Given the description of an element on the screen output the (x, y) to click on. 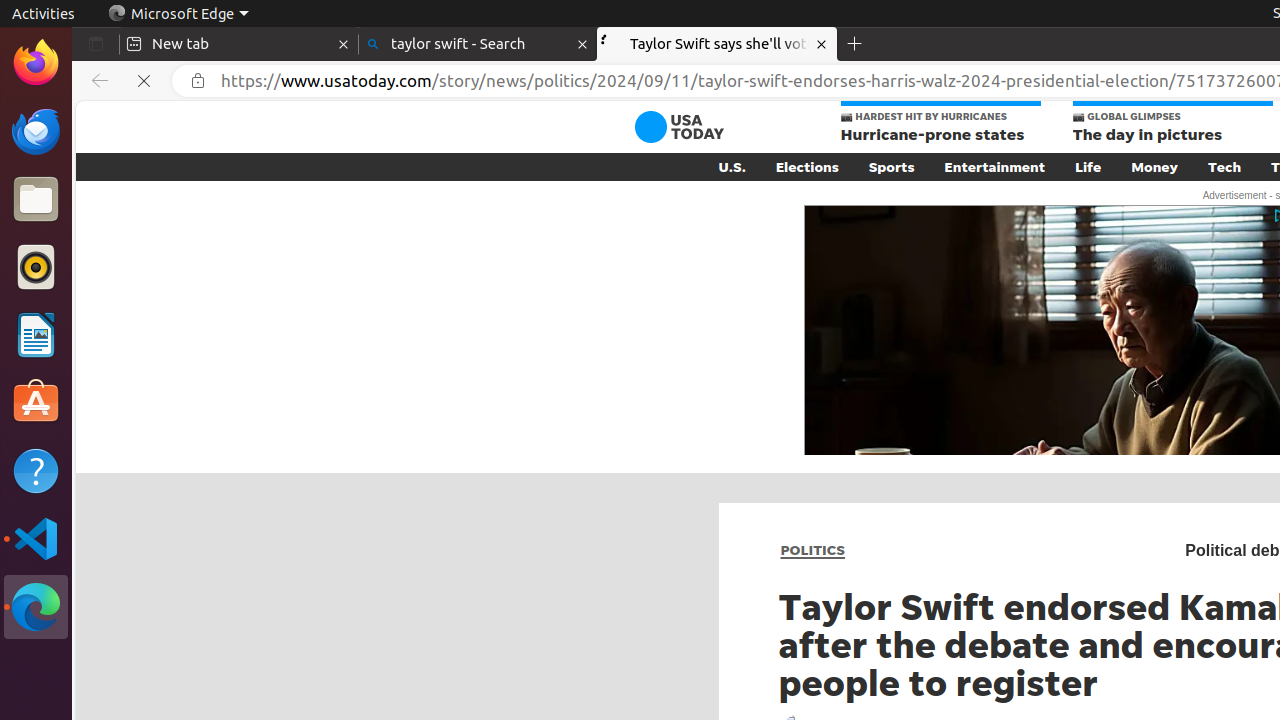
Skip to main content Element type: push-button (605, 127)
Sports Element type: link (891, 167)
Firefox Web Browser Element type: push-button (36, 63)
Thunderbird Mail Element type: push-button (36, 131)
Help Element type: push-button (36, 470)
